Given the description of an element on the screen output the (x, y) to click on. 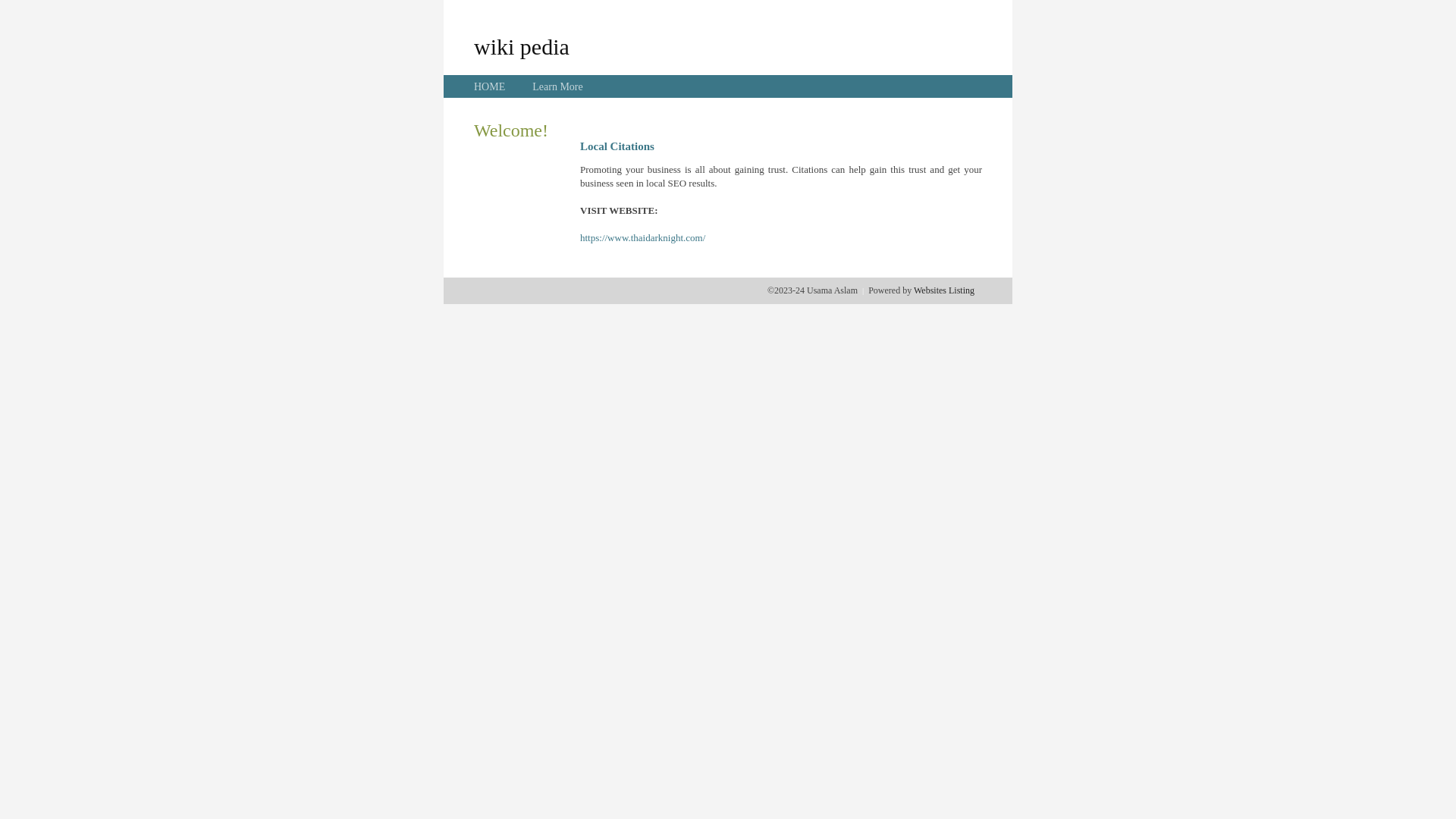
Learn More Element type: text (557, 86)
Websites Listing Element type: text (943, 290)
HOME Element type: text (489, 86)
https://www.thaidarknight.com/ Element type: text (642, 237)
wiki pedia Element type: text (521, 46)
